Given the description of an element on the screen output the (x, y) to click on. 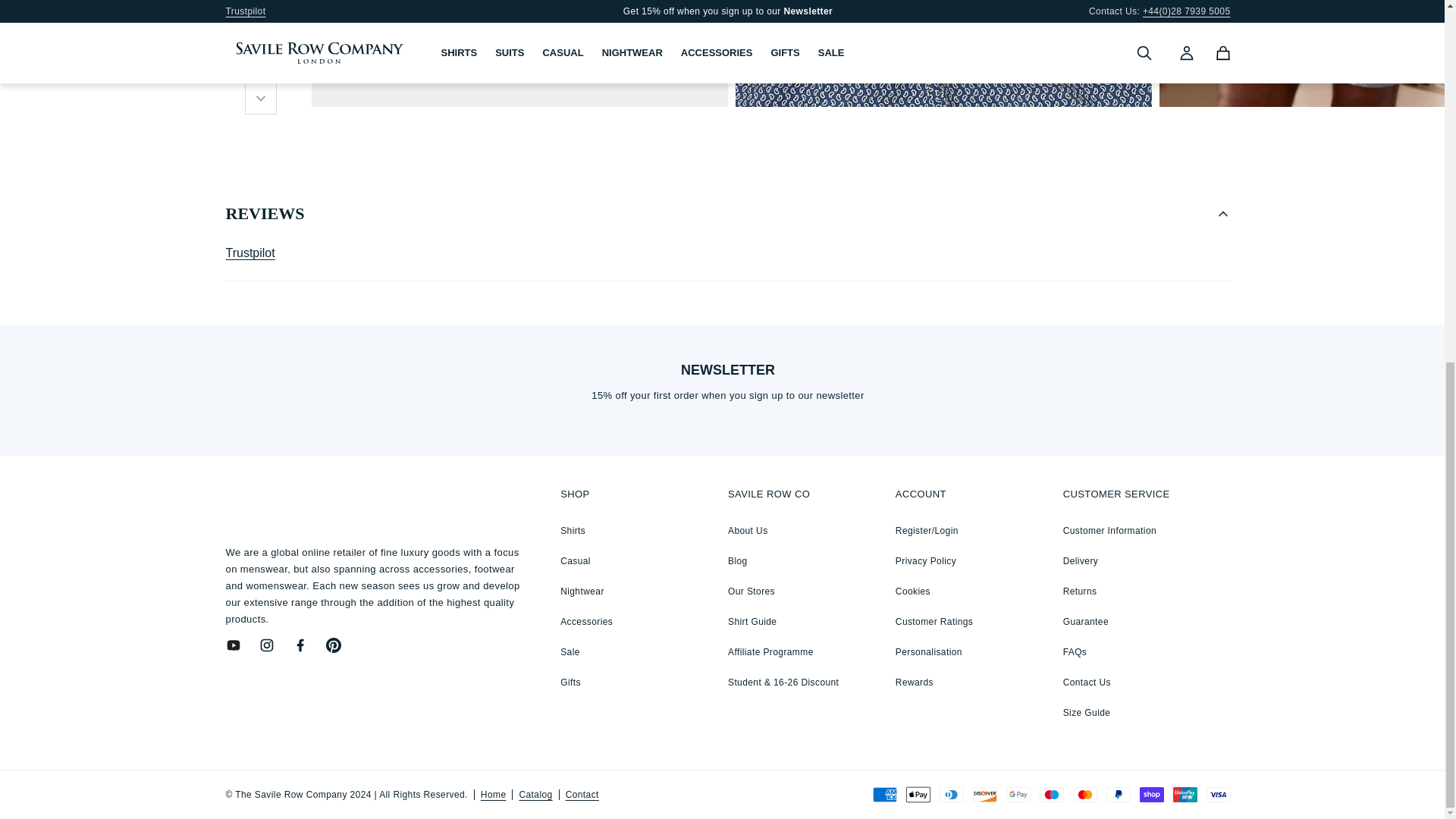
Savile Row Company (335, 503)
Savile Row Company (335, 500)
